Given the description of an element on the screen output the (x, y) to click on. 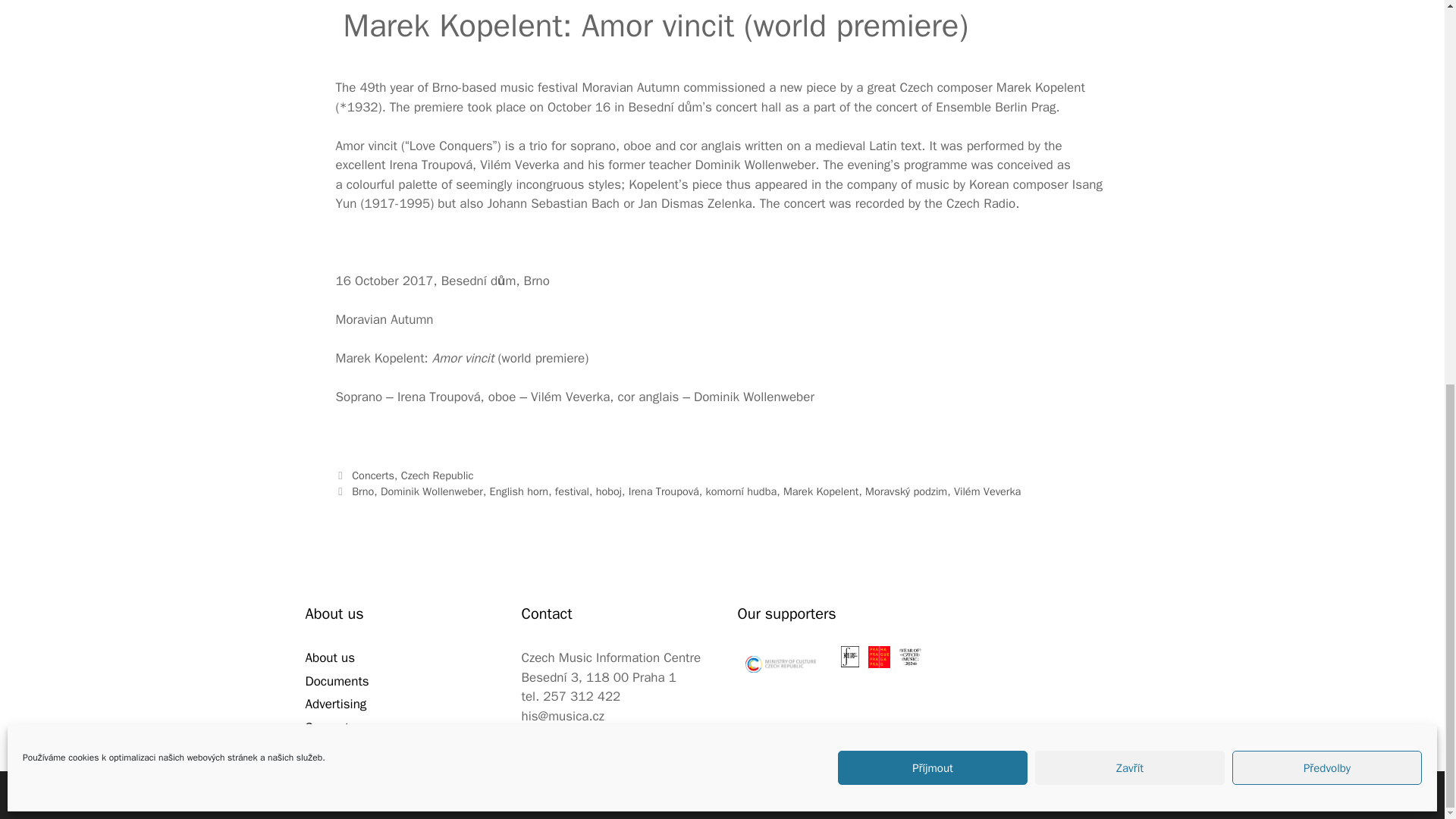
English horn (518, 490)
festival (571, 490)
Concerts (373, 475)
hoboj (608, 490)
Czech Republic (437, 475)
Dominik Wollenweber (431, 490)
Brno (363, 490)
